Given the description of an element on the screen output the (x, y) to click on. 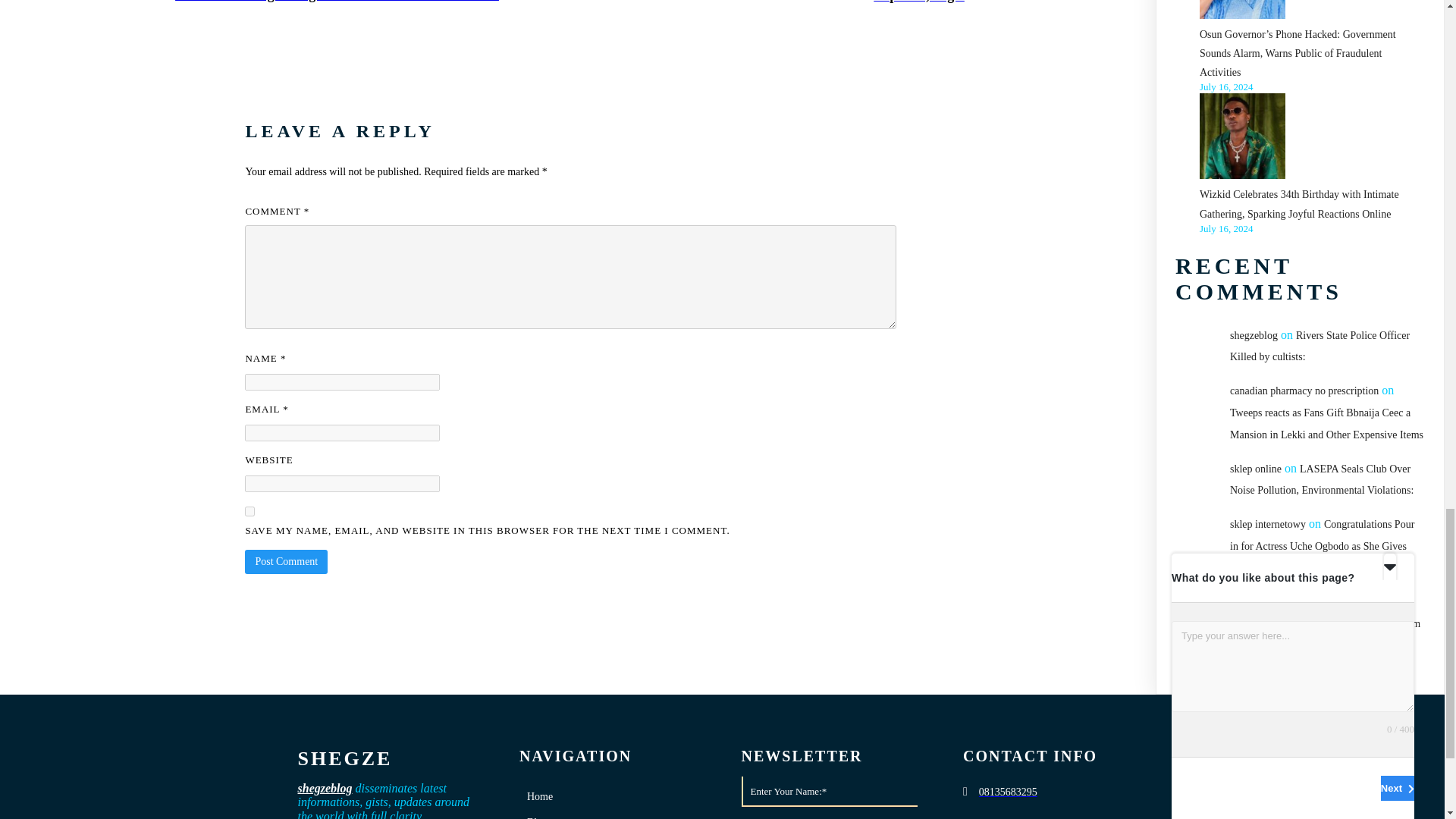
yes (249, 511)
Post Comment (285, 561)
Post Comment (285, 561)
